Given the description of an element on the screen output the (x, y) to click on. 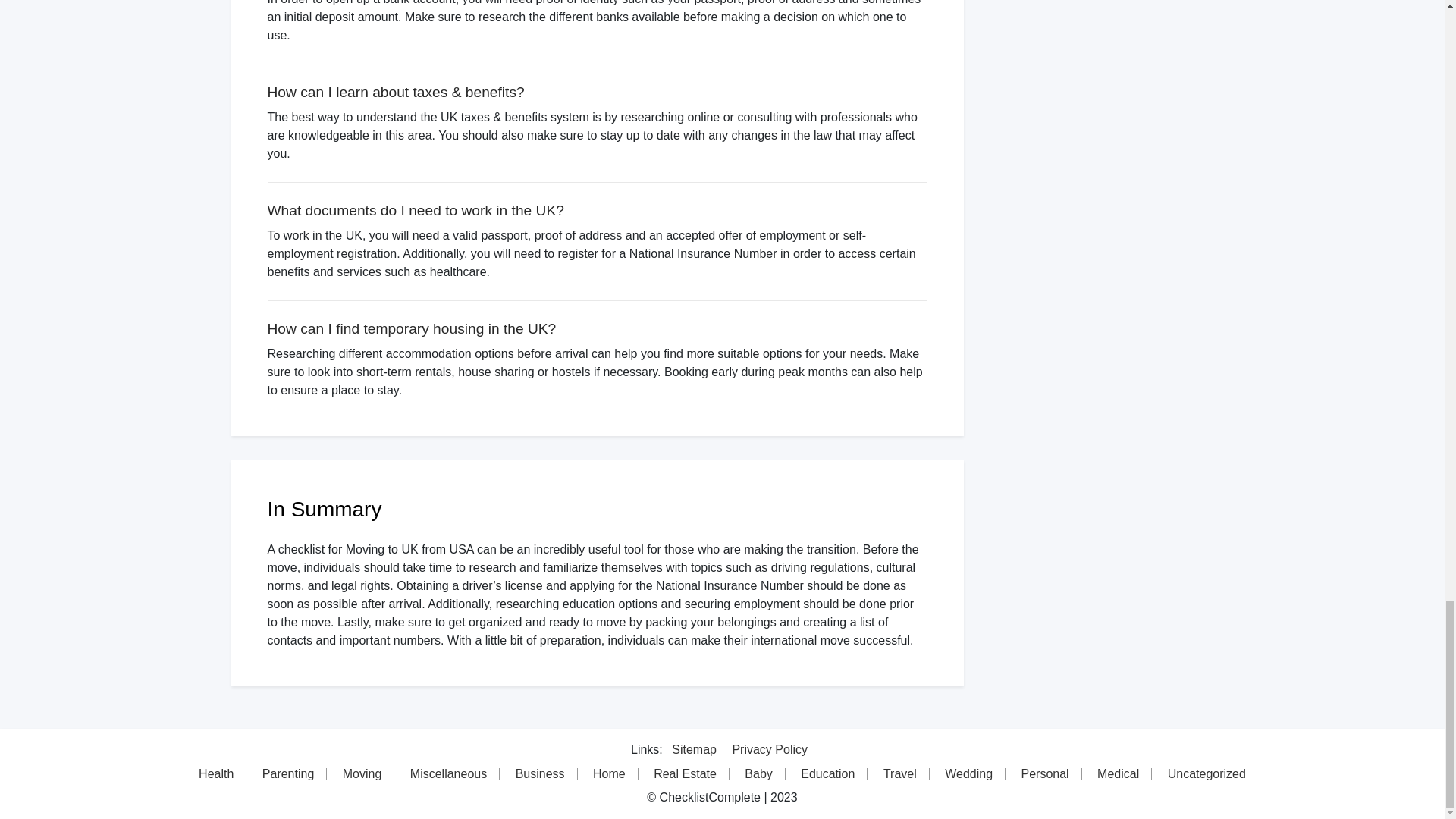
Education (828, 773)
Wedding (969, 773)
Baby (758, 773)
Personal (1045, 773)
Moving (362, 773)
Business (540, 773)
Privacy Policy (770, 748)
Home (609, 773)
Uncategorized (1206, 773)
Miscellaneous (448, 773)
